Given the description of an element on the screen output the (x, y) to click on. 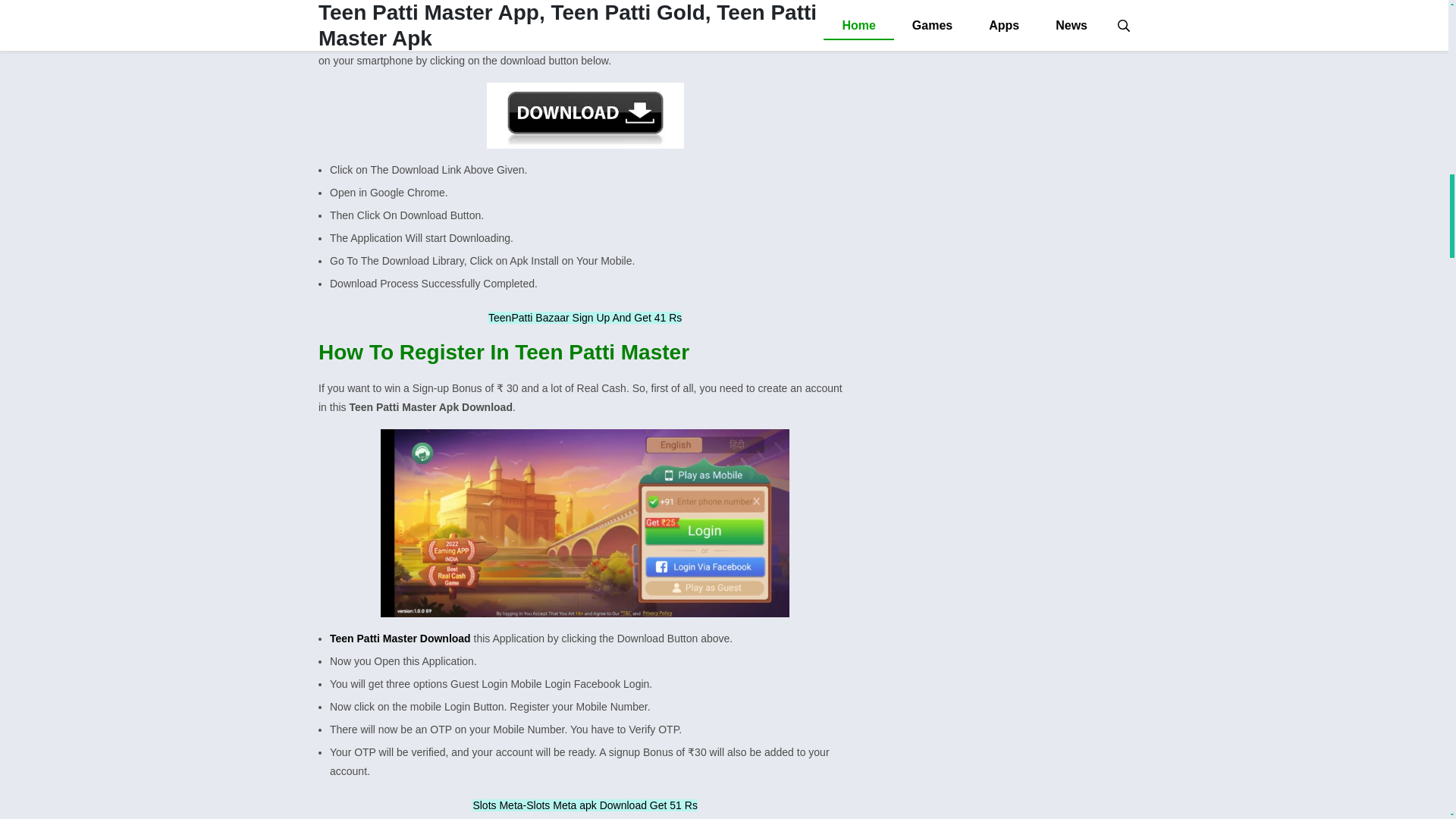
TeenPatti Bazaar Sign Up And Get 41 Rs (584, 317)
Teen Patti Master Download (400, 638)
Slots Meta-Slots Meta apk Download Get 51 Rs (584, 805)
